Given the description of an element on the screen output the (x, y) to click on. 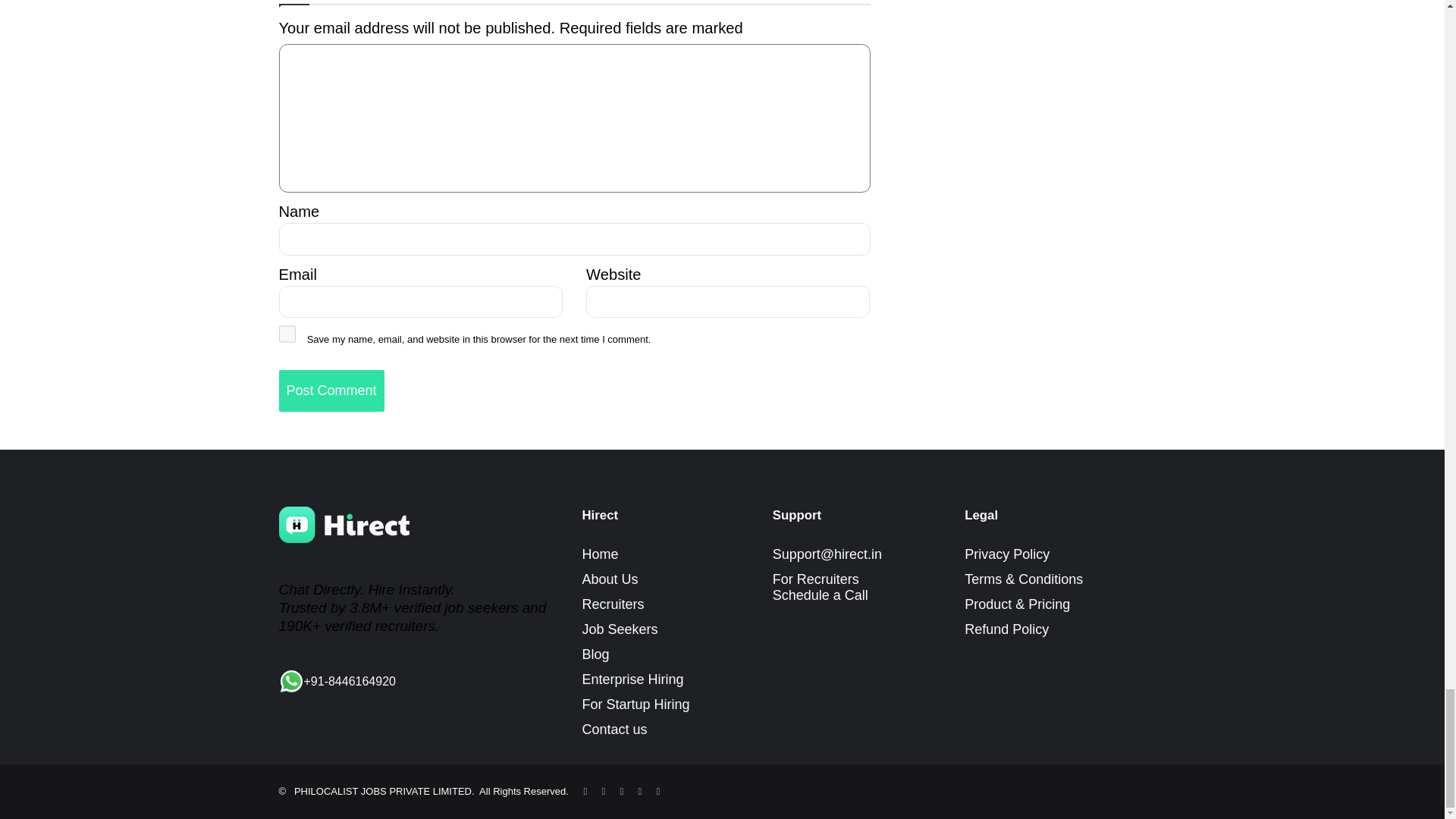
Post Comment (331, 390)
Post Comment (331, 390)
yes (287, 333)
